Given the description of an element on the screen output the (x, y) to click on. 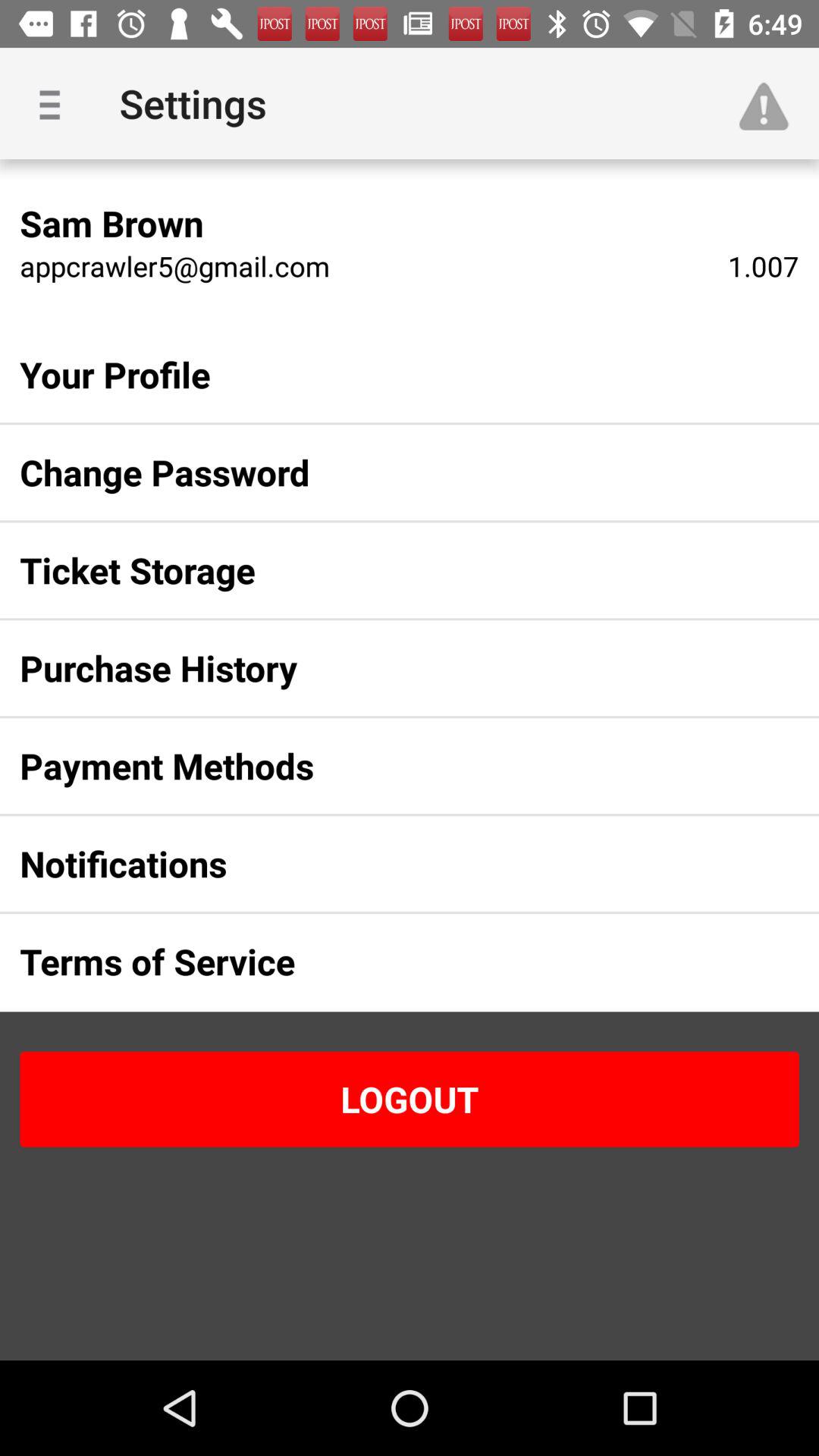
press item below the sam brown icon (174, 265)
